Given the description of an element on the screen output the (x, y) to click on. 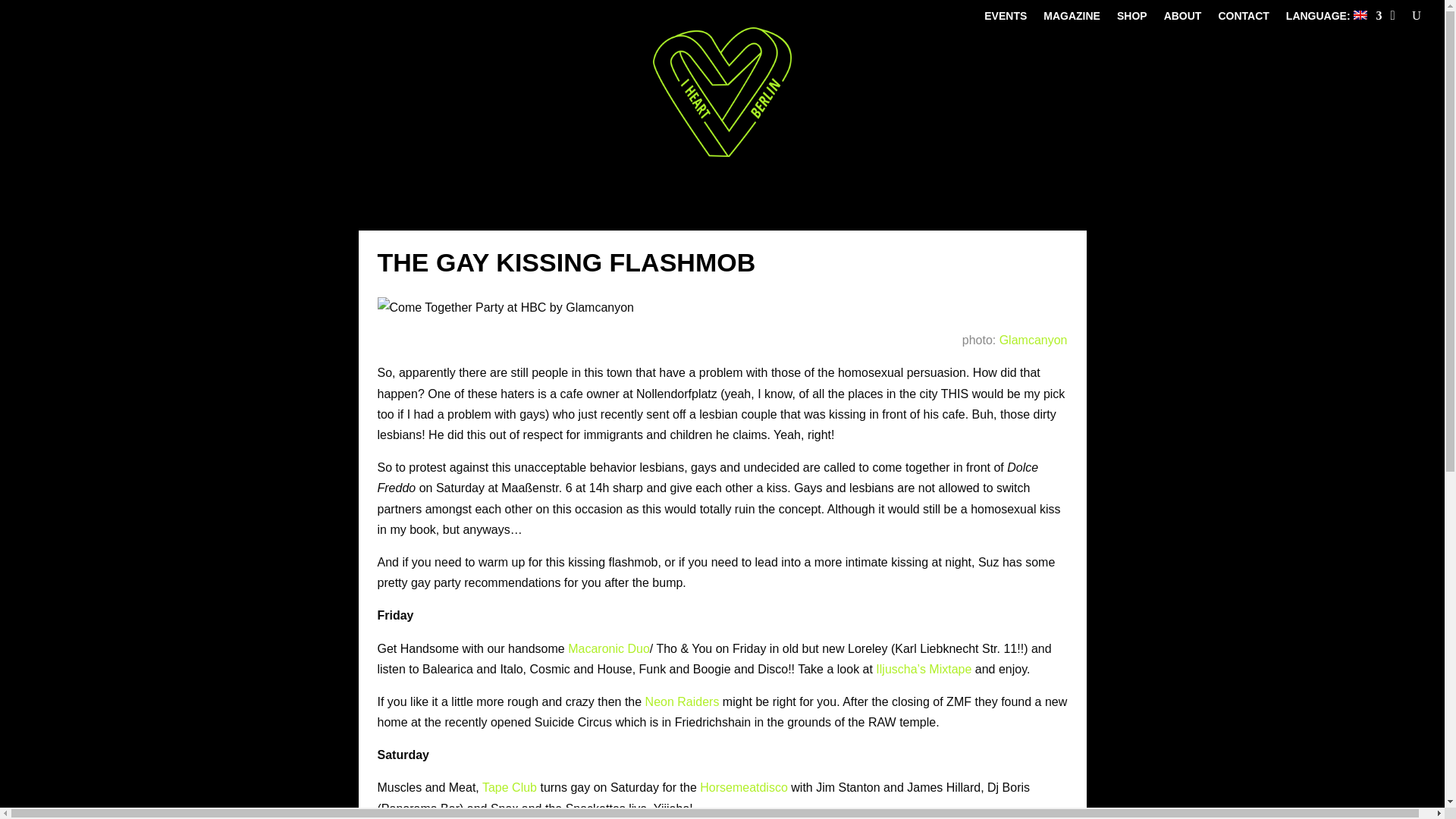
CONTACT (1242, 18)
Neon Raiders (682, 701)
Horsemeatdisco (743, 787)
Glamcanyon (1032, 339)
iHeartBerlin-Logo-2020-neon (721, 92)
English (1333, 18)
Come Together Party at HBC by Glamcanyon (505, 307)
SHOP (1131, 18)
LANGUAGE:  (1333, 18)
Tape Club (509, 787)
MAGAZINE (1071, 18)
Macaronic Duo (608, 648)
EVENTS (1005, 18)
ABOUT (1182, 18)
